Given the description of an element on the screen output the (x, y) to click on. 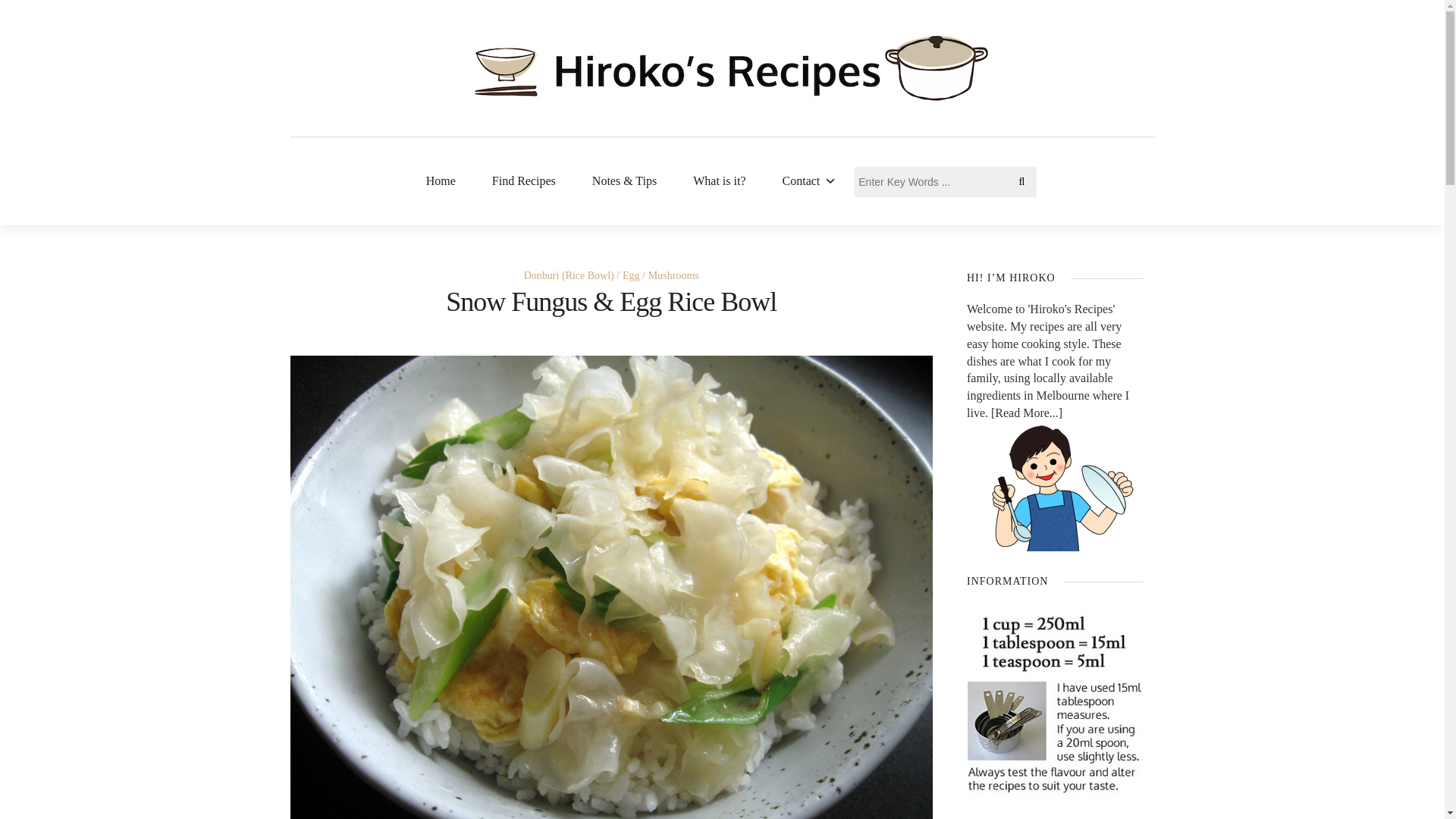
What is it? (718, 180)
Contact (810, 180)
Egg (634, 275)
Mushrooms (672, 275)
Home (440, 180)
Find Recipes (523, 180)
Search (22, 17)
